Given the description of an element on the screen output the (x, y) to click on. 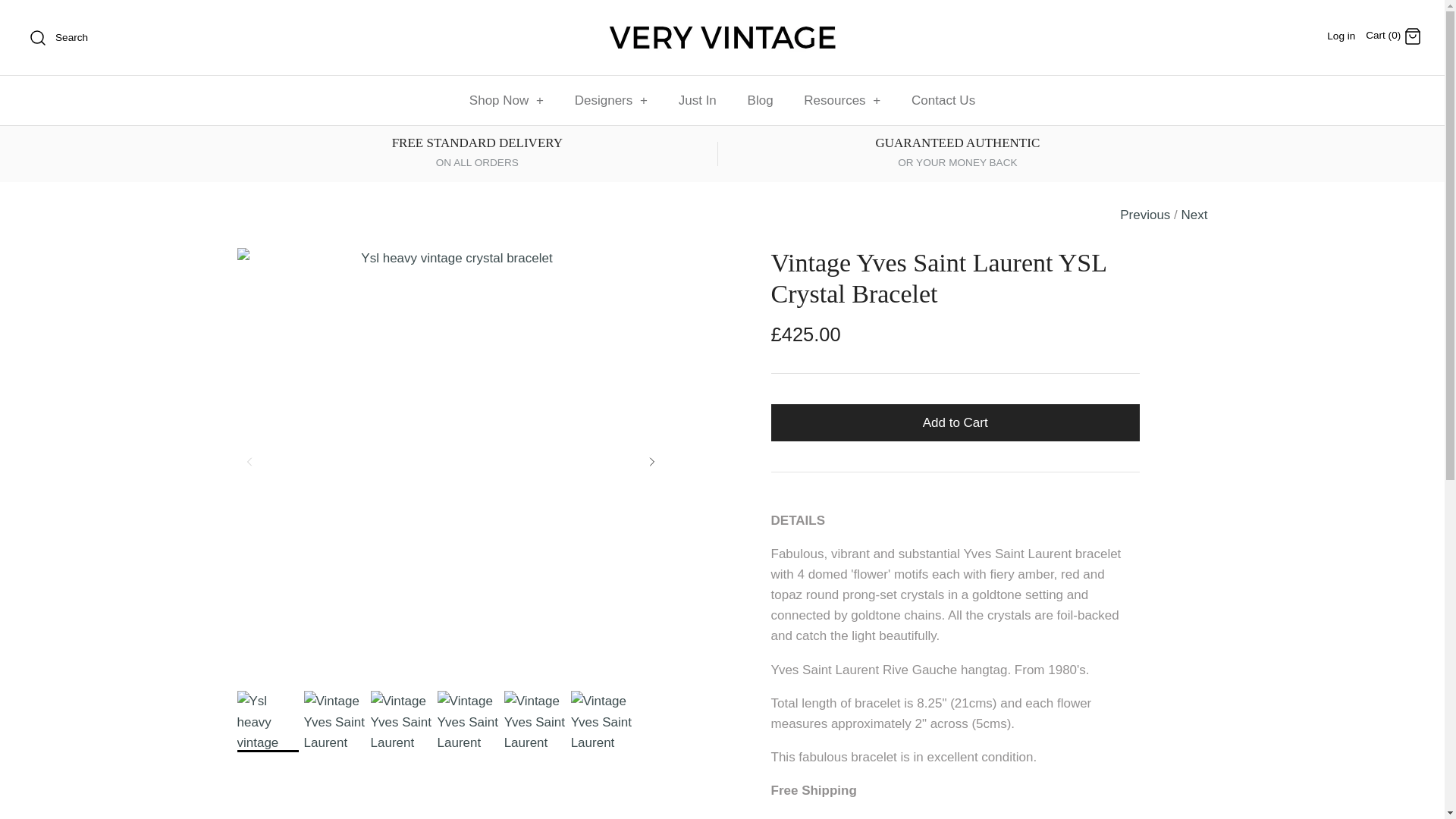
Cart (1412, 36)
Log in (1340, 35)
Vintage Yves Saint Laurent YSL Crystal Bracelet (600, 721)
Contact Us (943, 101)
Right (652, 461)
Vintage Yves Saint Laurent YSL Crystal Bracelet (468, 721)
Ysl heavy vintage crystal bracelet (266, 721)
Vintage Yves Saint Laurent YSL Crystal Bracelet (334, 721)
Just In (697, 101)
Vintage Yves Saint Laurent YSL Crystal Bracelet (401, 721)
Vintage Yves Saint Laurent YSL Crystal Bracelet (534, 721)
Add to Cart (955, 421)
Blog (760, 101)
Very Vintage (721, 25)
Left (248, 461)
